Given the description of an element on the screen output the (x, y) to click on. 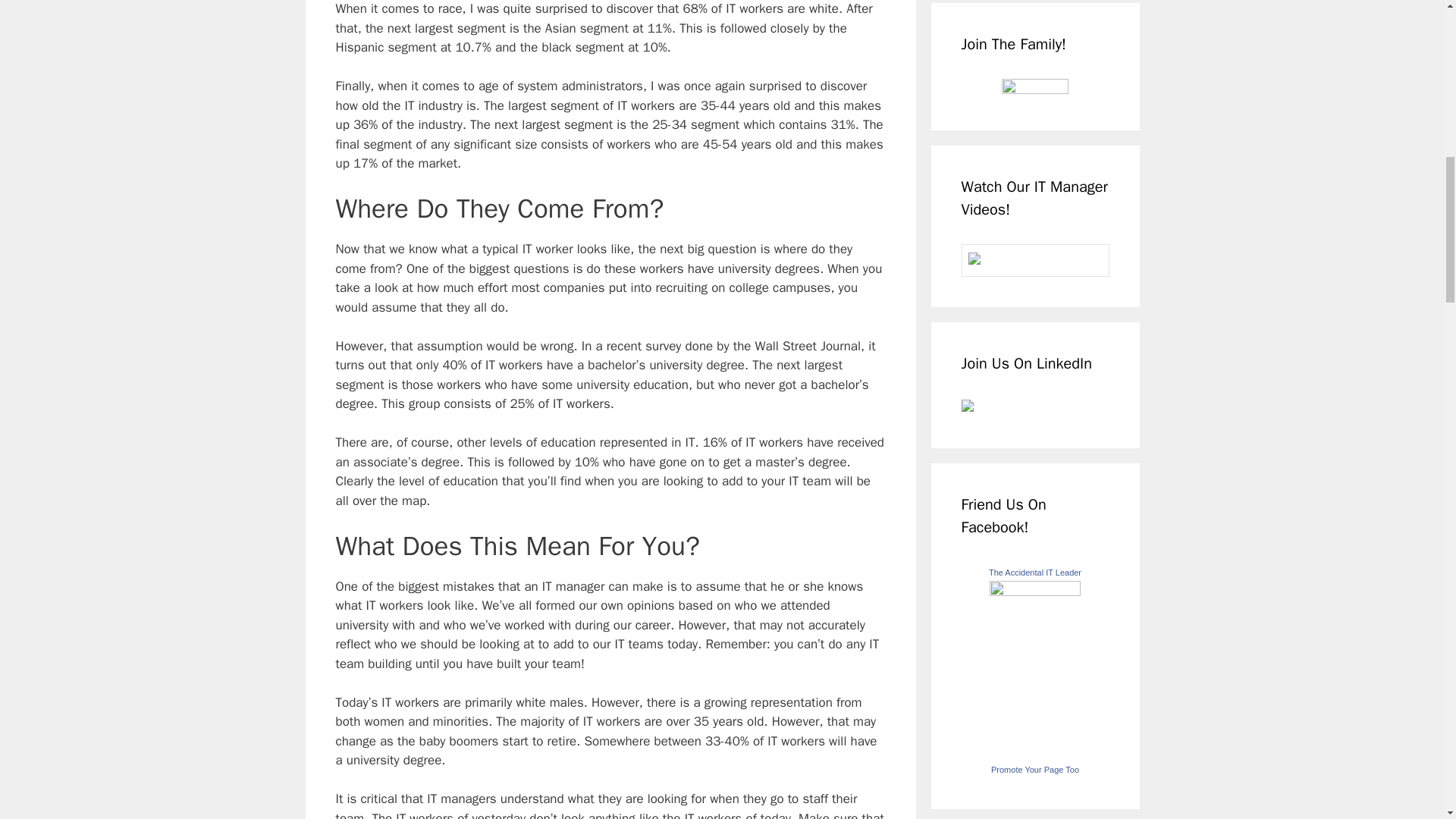
The Accidental IT Leader (1034, 572)
Make your own badge! (1034, 768)
The Accidental IT Leader (1035, 591)
